Given the description of an element on the screen output the (x, y) to click on. 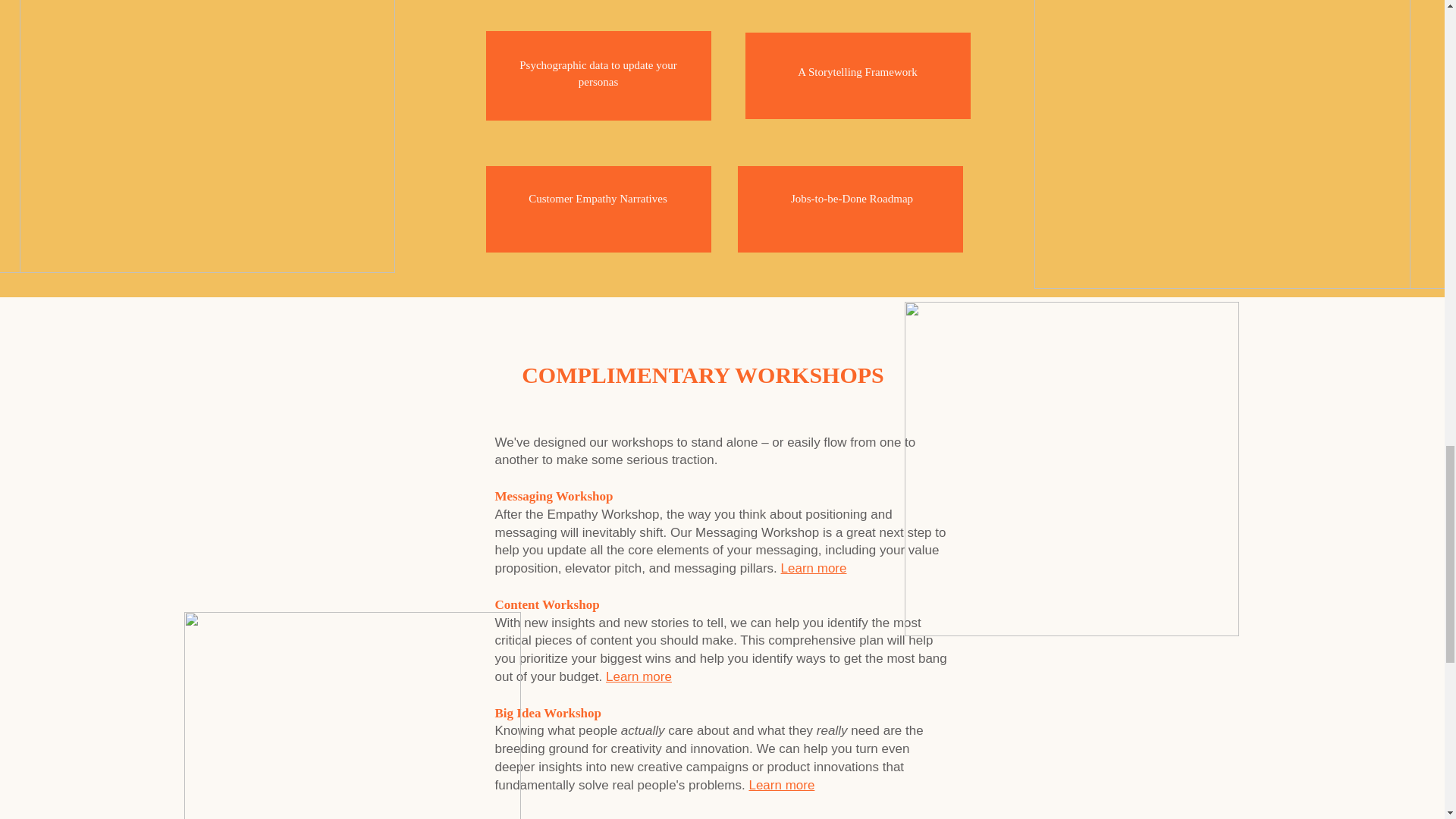
Group 16 copy.png (1071, 469)
Learn more (813, 568)
Learn more (780, 785)
Group 15 copy.png (351, 715)
halftone-dark.png (207, 136)
halftone-dark.png (1221, 144)
Learn more (638, 676)
